Given the description of an element on the screen output the (x, y) to click on. 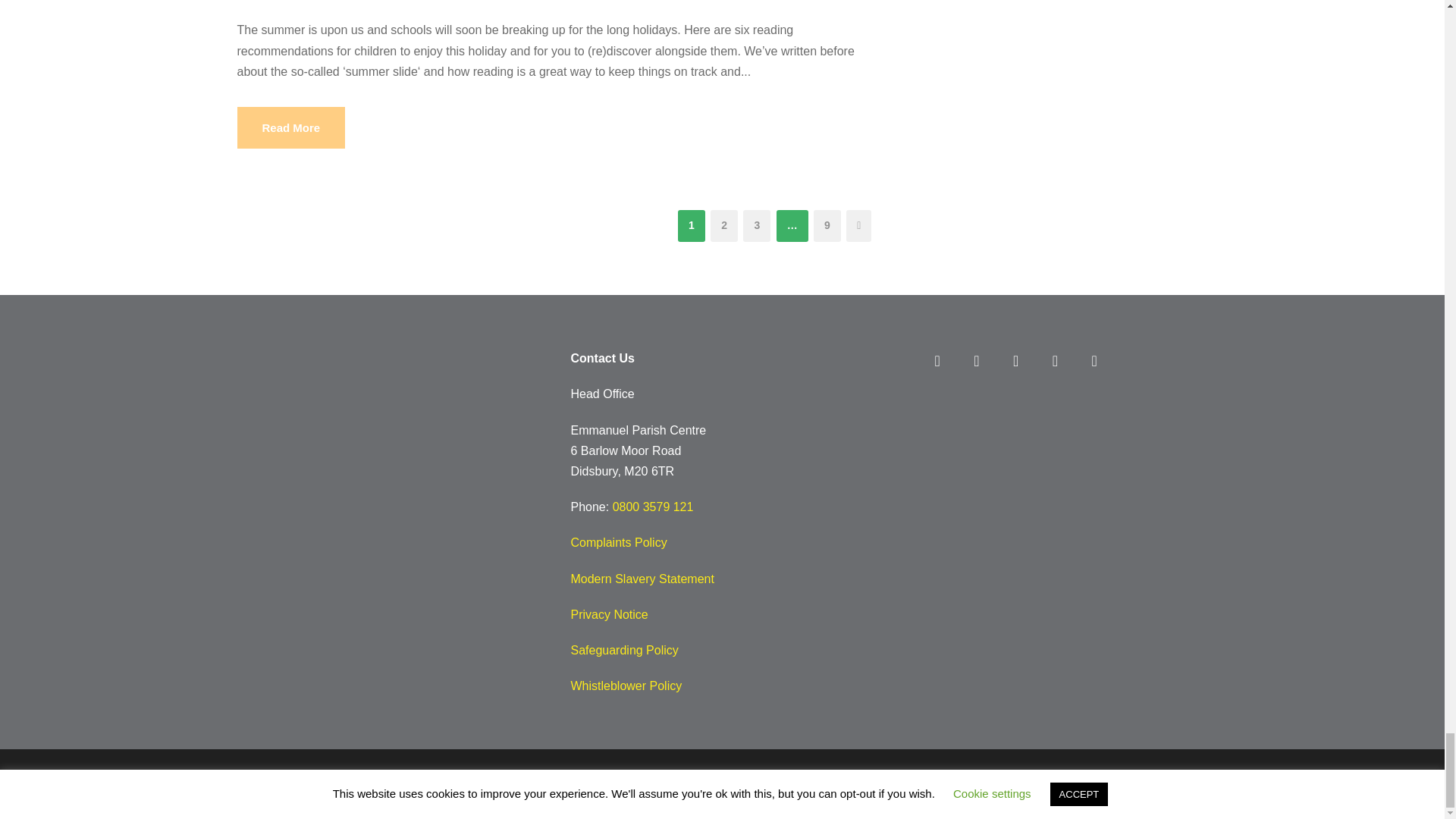
Page 8 (721, 522)
